Given the description of an element on the screen output the (x, y) to click on. 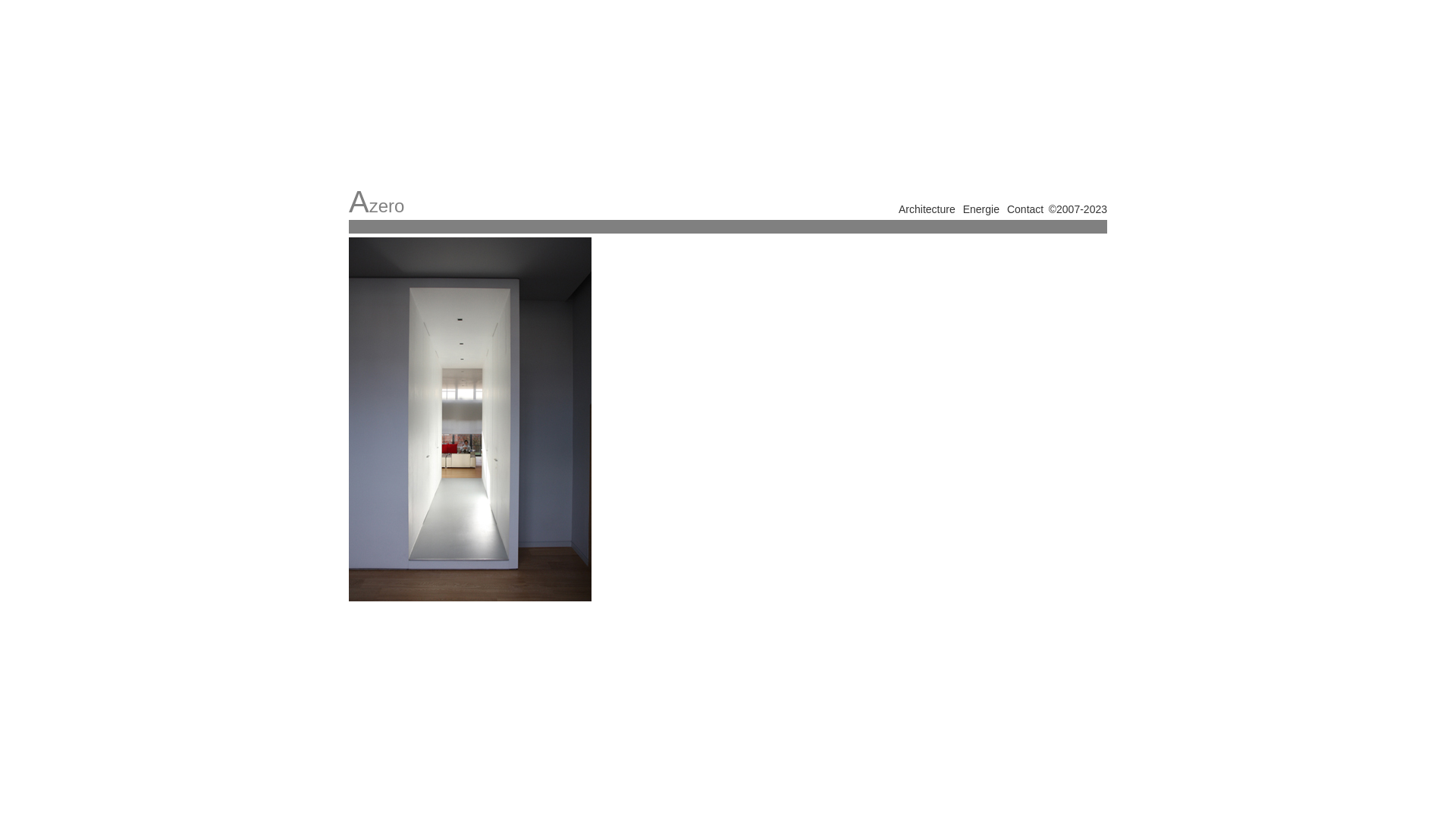
Contact Element type: text (1025, 209)
Azero Element type: text (376, 201)
Architecture Element type: text (926, 209)
Energie Element type: text (981, 209)
Voir le projet Michiels7a Element type: hover (469, 419)
